Given the description of an element on the screen output the (x, y) to click on. 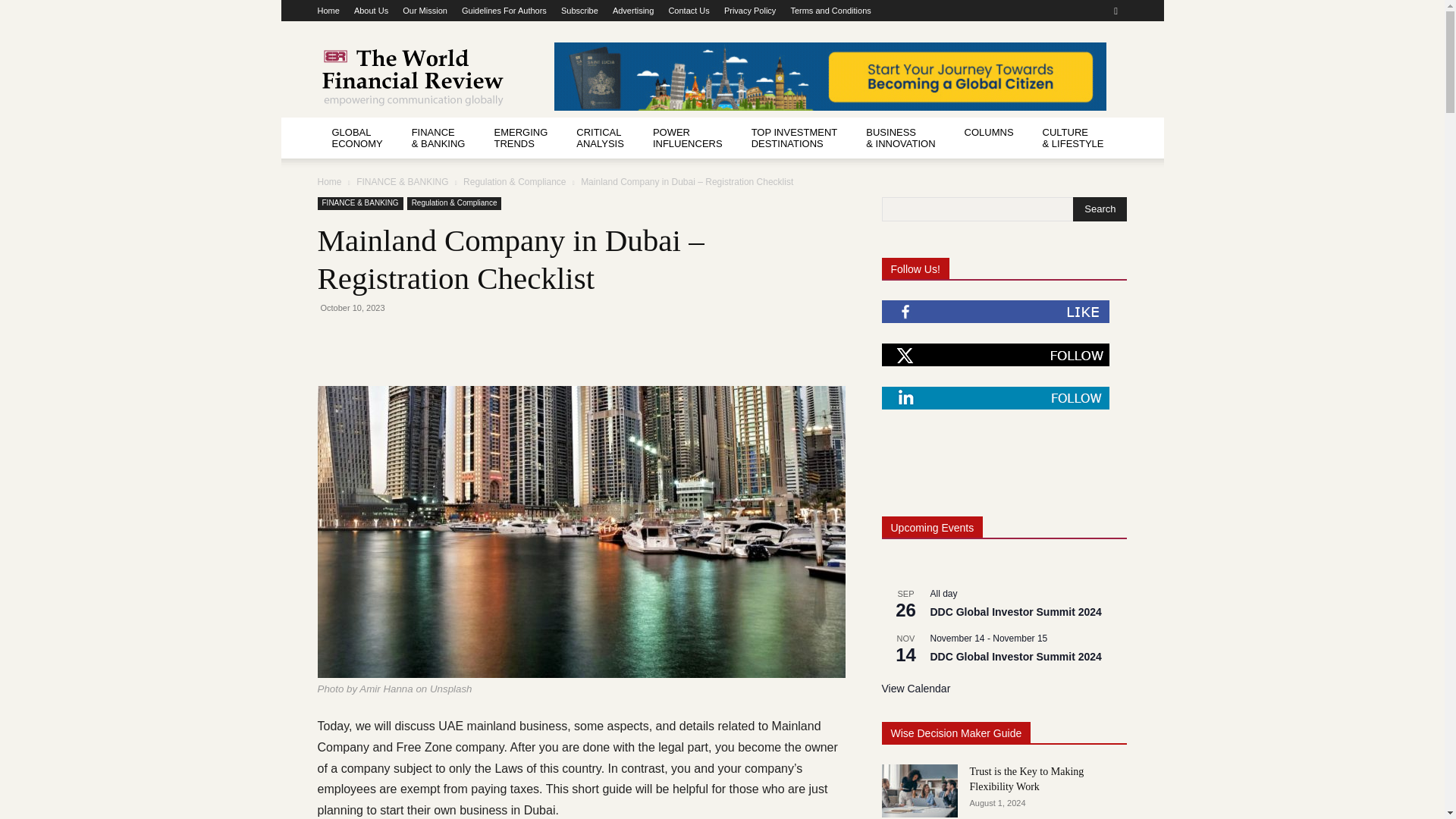
Search (1099, 209)
